Given the description of an element on the screen output the (x, y) to click on. 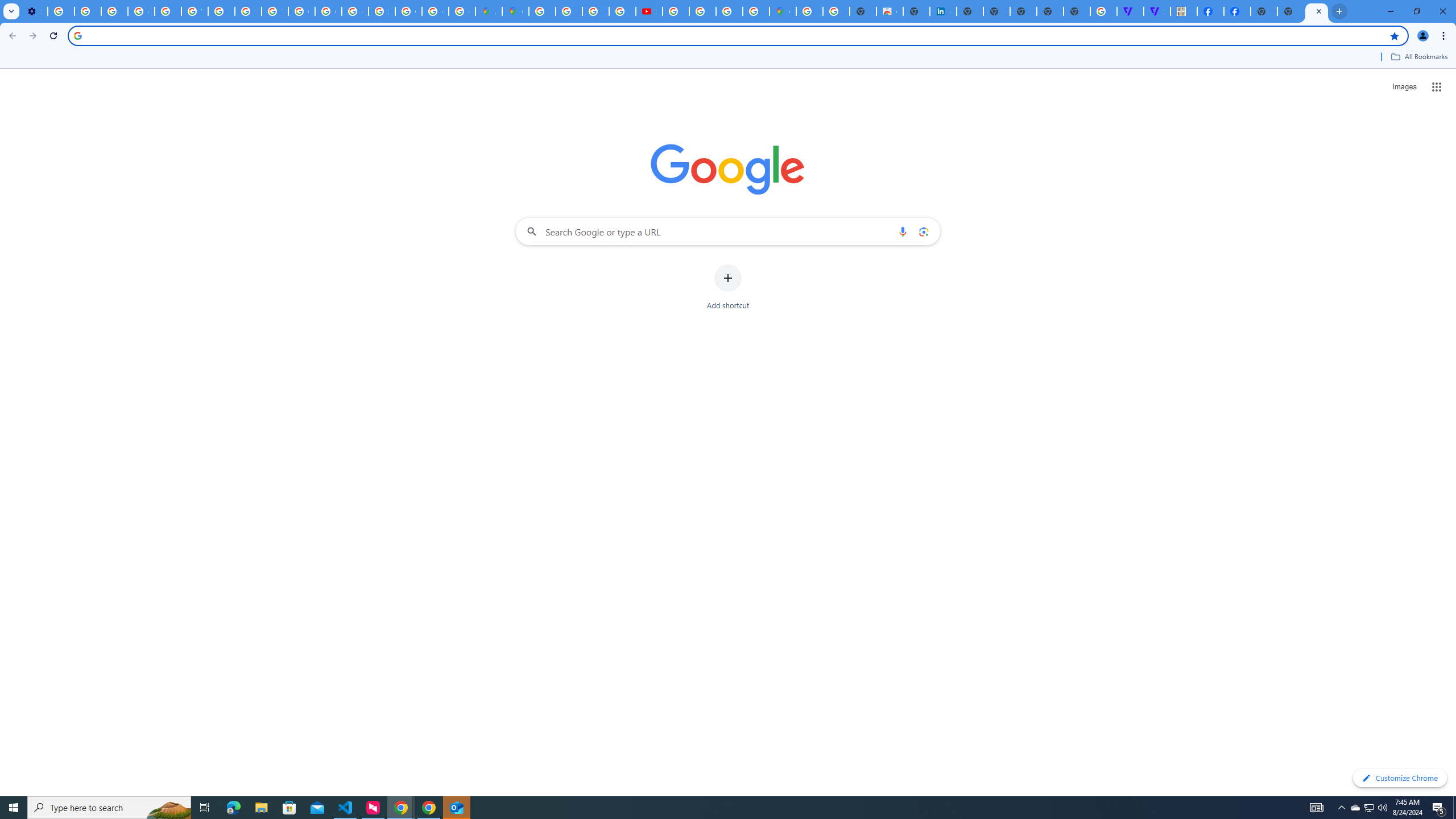
Streaming - The Verge (1156, 11)
How Chrome protects your passwords - Google Chrome Help (676, 11)
Chrome Web Store (889, 11)
Delete photos & videos - Computer - Google Photos Help (61, 11)
Google Maps (515, 11)
Miley Cyrus | Facebook (1236, 11)
